Given the description of an element on the screen output the (x, y) to click on. 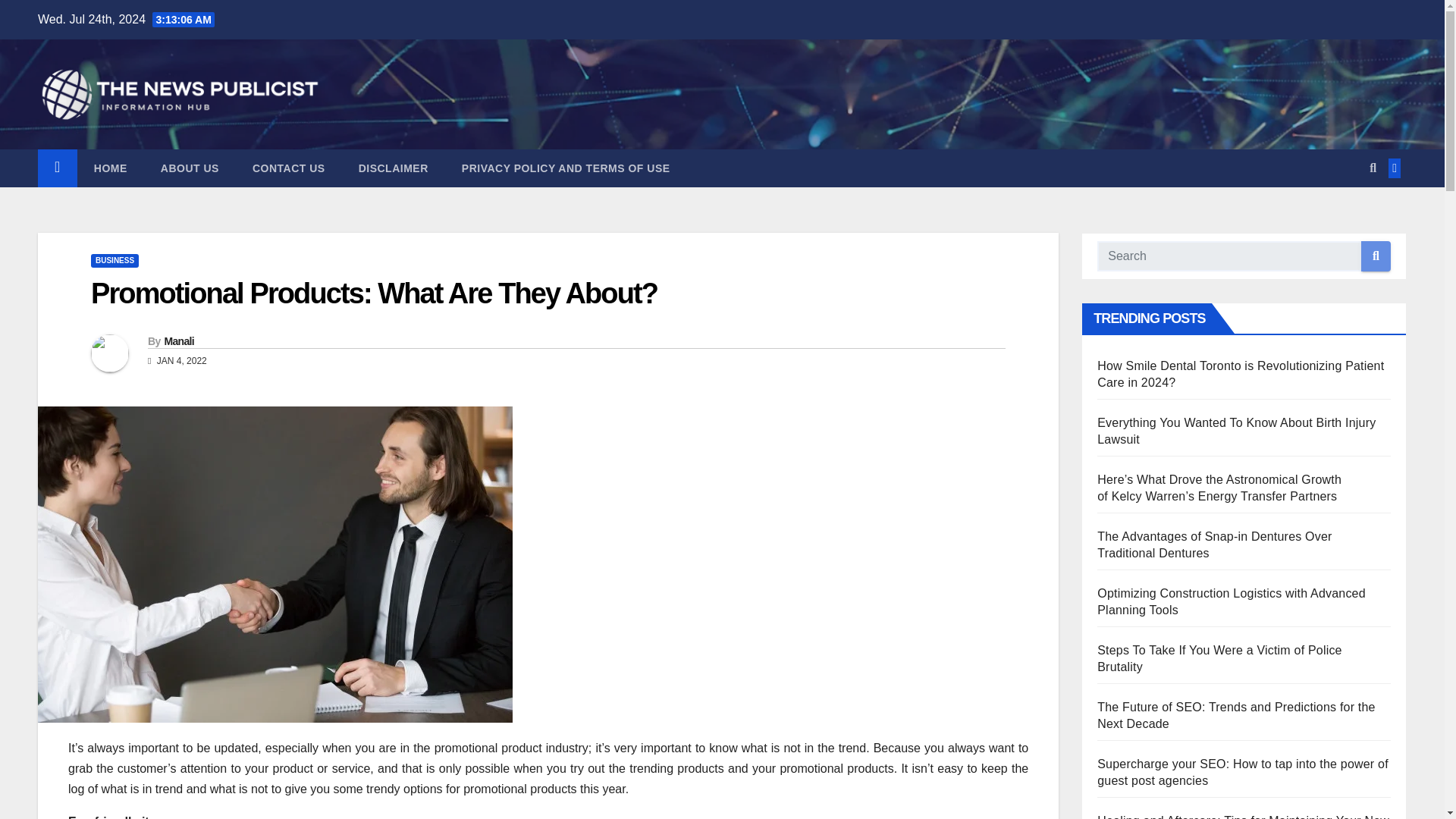
CONTACT US (288, 168)
Manali (178, 340)
Promotional Products: What Are They About? (374, 293)
HOME (110, 168)
DISCLAIMER (393, 168)
Home (110, 168)
Permalink to: Promotional Products: What Are They About? (374, 293)
Contact Us (288, 168)
About Us (189, 168)
PRIVACY POLICY AND TERMS OF USE (566, 168)
BUSINESS (114, 260)
Privacy Policy and Terms of Use (566, 168)
Disclaimer (393, 168)
ABOUT US (189, 168)
